Given the description of an element on the screen output the (x, y) to click on. 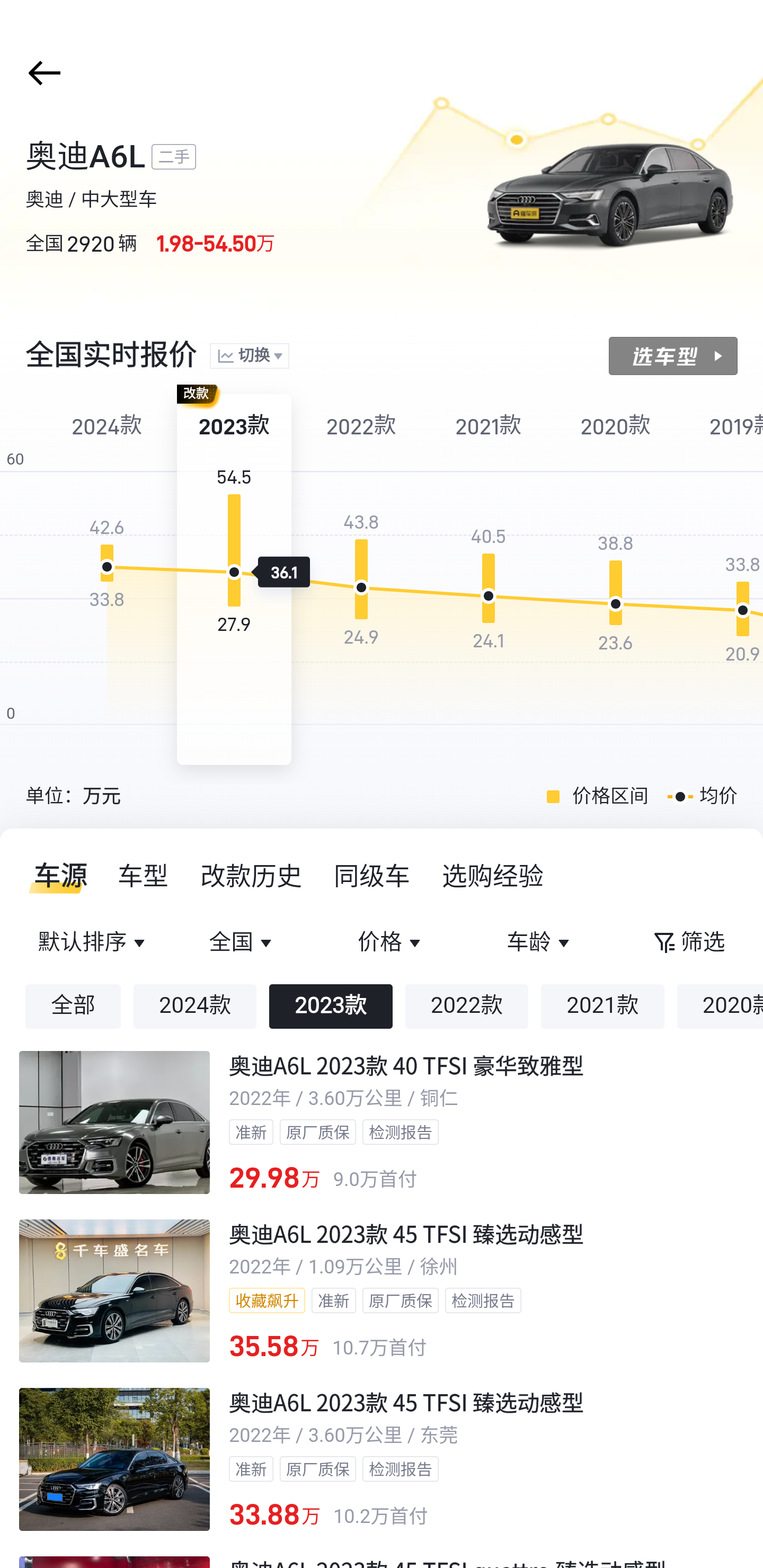
 (41, 72)
切换 (249, 356)
2024款 42.6 33.8 (107, 579)
改款 2023 款 54.5 27.9 (234, 579)
2022款 43.8 24.9 (361, 579)
2021款 40.5 24.1 (489, 579)
2020款 38.8 23.6 (615, 579)
2019 款 33.8 20.9 (724, 579)
车源 (55, 875)
车型 (143, 876)
改款历史 (251, 876)
同级车 (372, 876)
选购经验 (492, 876)
默认排序 (93, 943)
全国 (242, 943)
价格 (390, 943)
车龄 (538, 943)
筛选 (688, 943)
全部 (73, 1006)
2024款 (195, 1006)
2023款 (330, 1006)
2022款 (466, 1006)
2021款 (602, 1006)
